Given the description of an element on the screen output the (x, y) to click on. 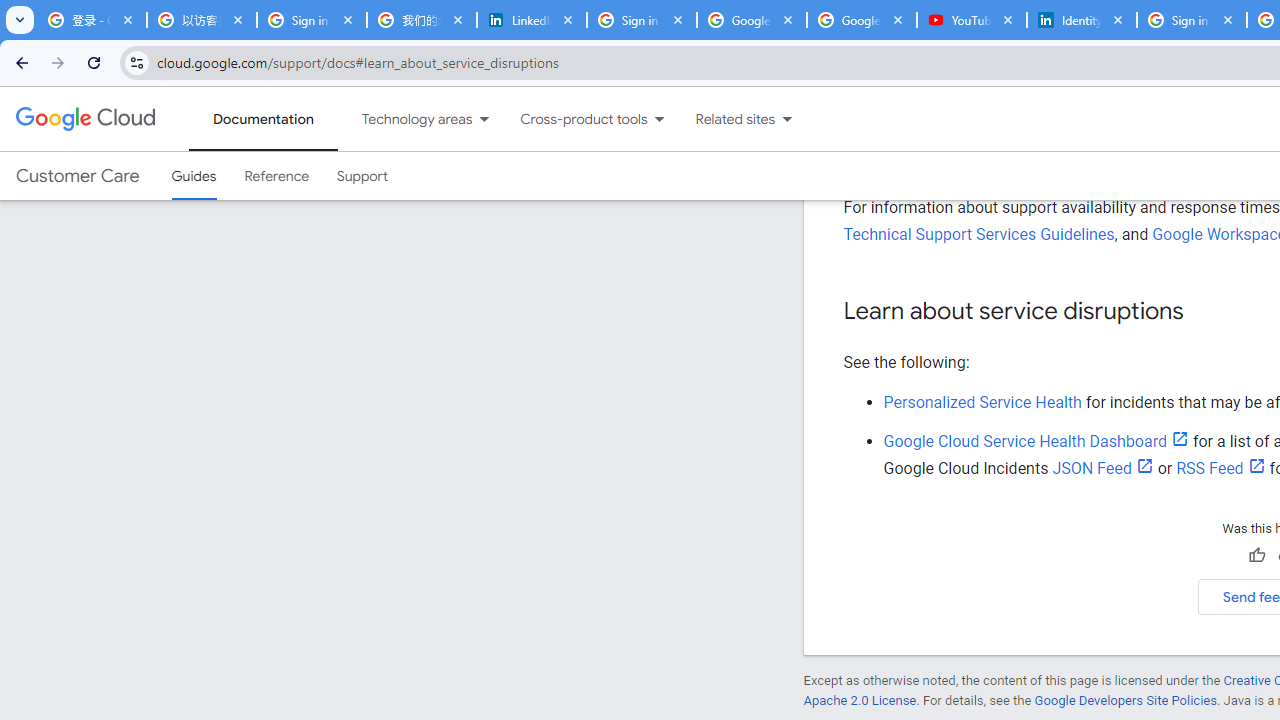
Cross-product tools (571, 119)
Support (362, 175)
Helpful (1256, 555)
Apache 2.0 License (859, 699)
Guides, selected (193, 175)
Google Cloud (84, 118)
Google Cloud Service Health Dashboard (1036, 441)
Dropdown menu for Cross-product tools (659, 119)
LinkedIn Privacy Policy (532, 20)
Sign in - Google Accounts (1191, 20)
Customer Care (77, 175)
